Given the description of an element on the screen output the (x, y) to click on. 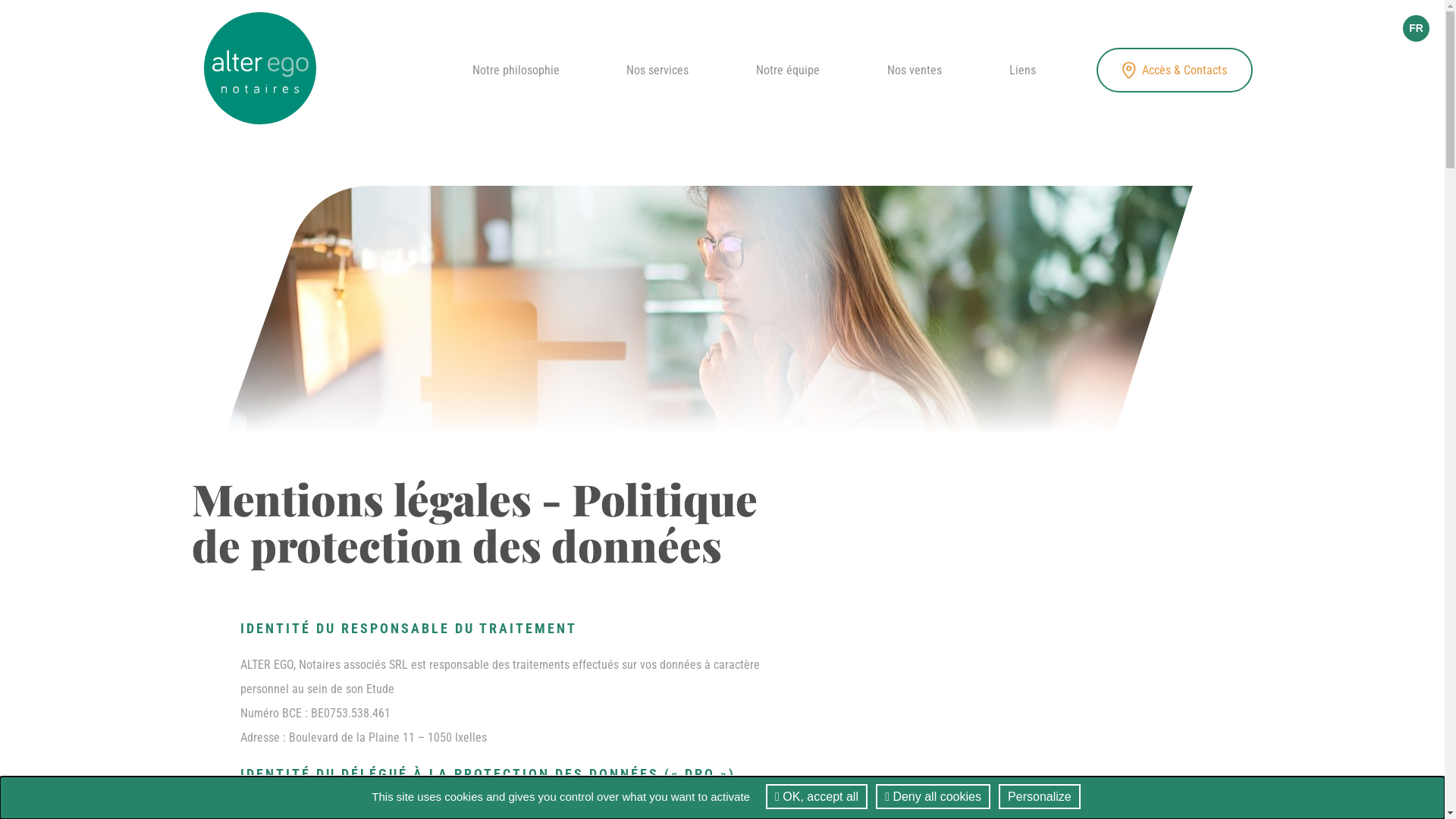
Nos ventes Element type: text (914, 69)
Deny all cookies Element type: text (932, 796)
OK, accept all Element type: text (816, 796)
Liens Element type: text (1022, 69)
FR Element type: text (1415, 28)
Nos services Element type: text (657, 69)
Personalize Element type: text (1039, 796)
Notre philosophie Element type: text (514, 69)
